Given the description of an element on the screen output the (x, y) to click on. 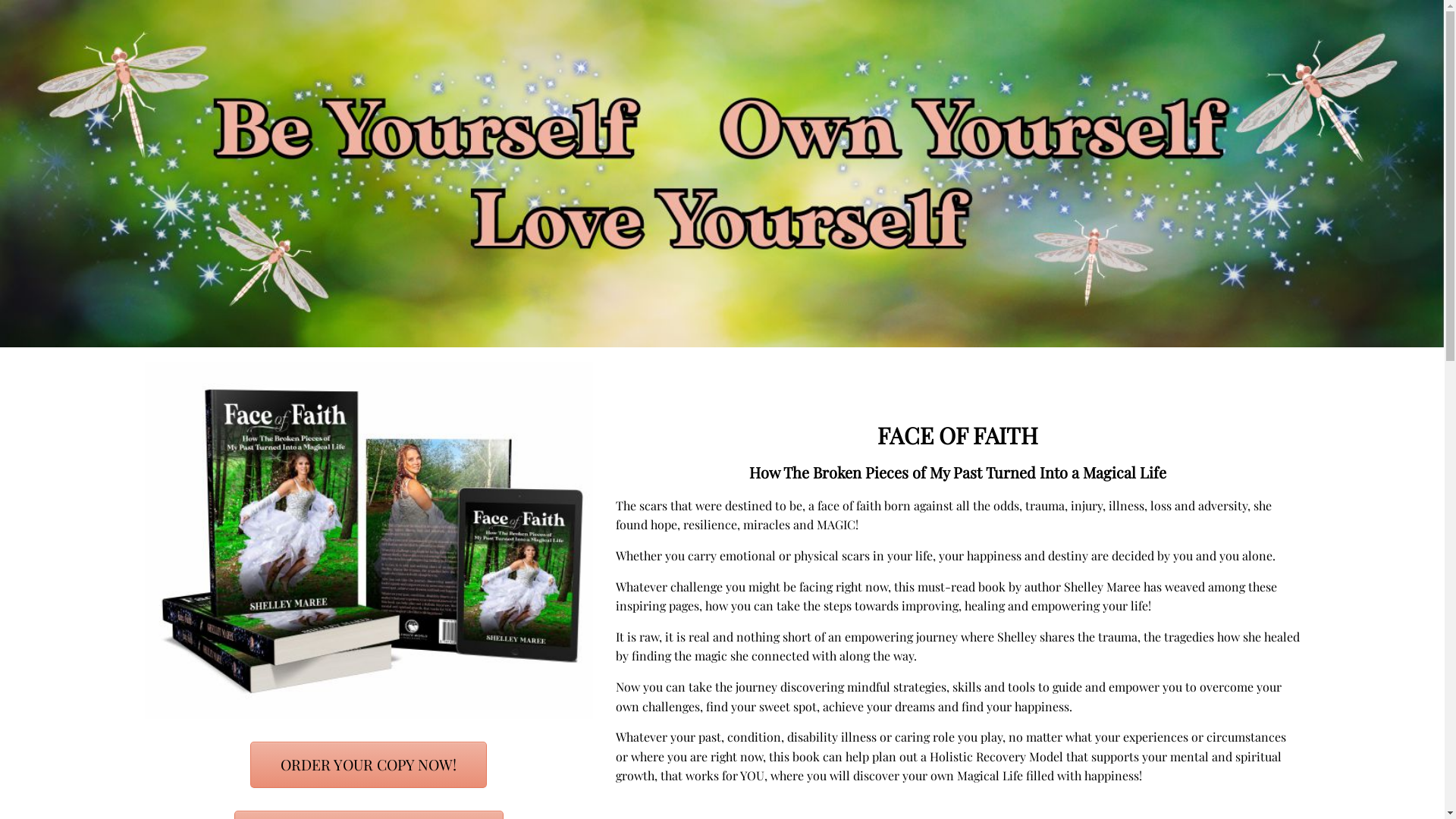
ORDER YOUR COPY NOW! Element type: text (368, 764)
